Given the description of an element on the screen output the (x, y) to click on. 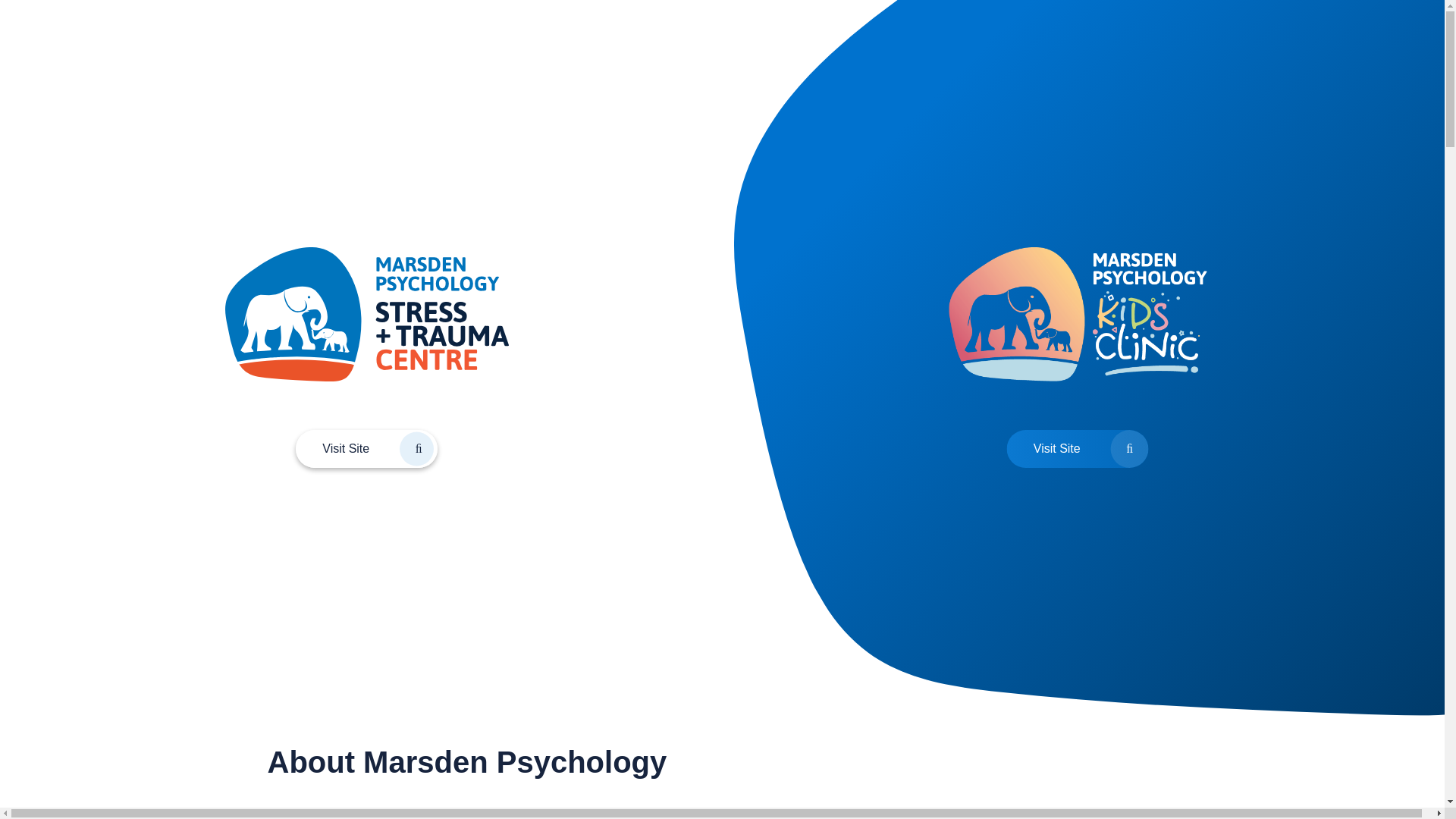
Visit Site Element type: text (366, 448)
Visit Site Element type: text (1077, 448)
SKIP TO CONTENT Element type: text (6, 3)
